Given the description of an element on the screen output the (x, y) to click on. 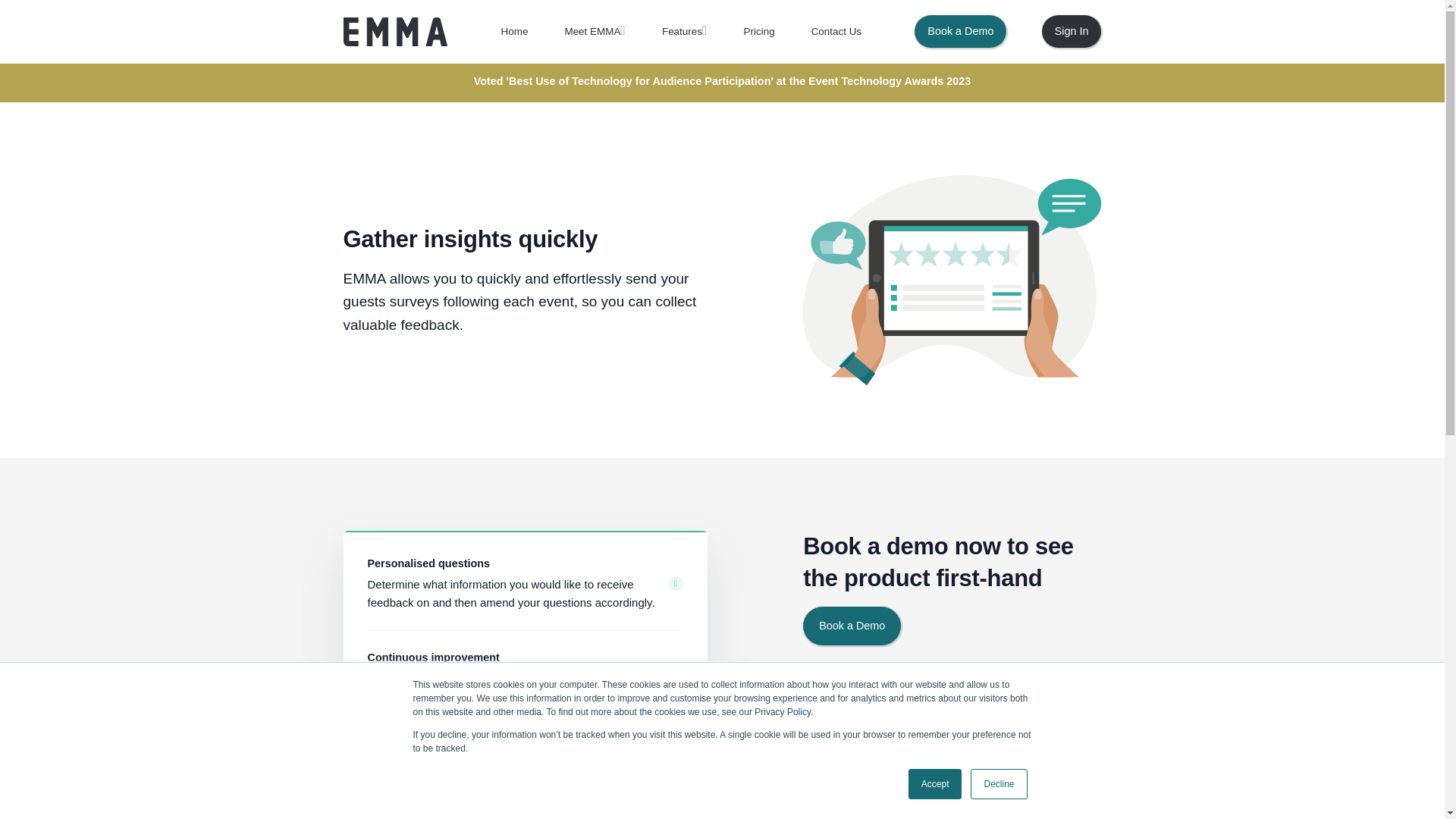
Book a Demo (852, 625)
Sign In (1072, 31)
Meet EMMA (594, 31)
Book a Demo (960, 31)
Pricing (759, 31)
Home (515, 31)
Accept (935, 784)
Decline (998, 784)
Features (684, 31)
Contact Us (836, 31)
